Given the description of an element on the screen output the (x, y) to click on. 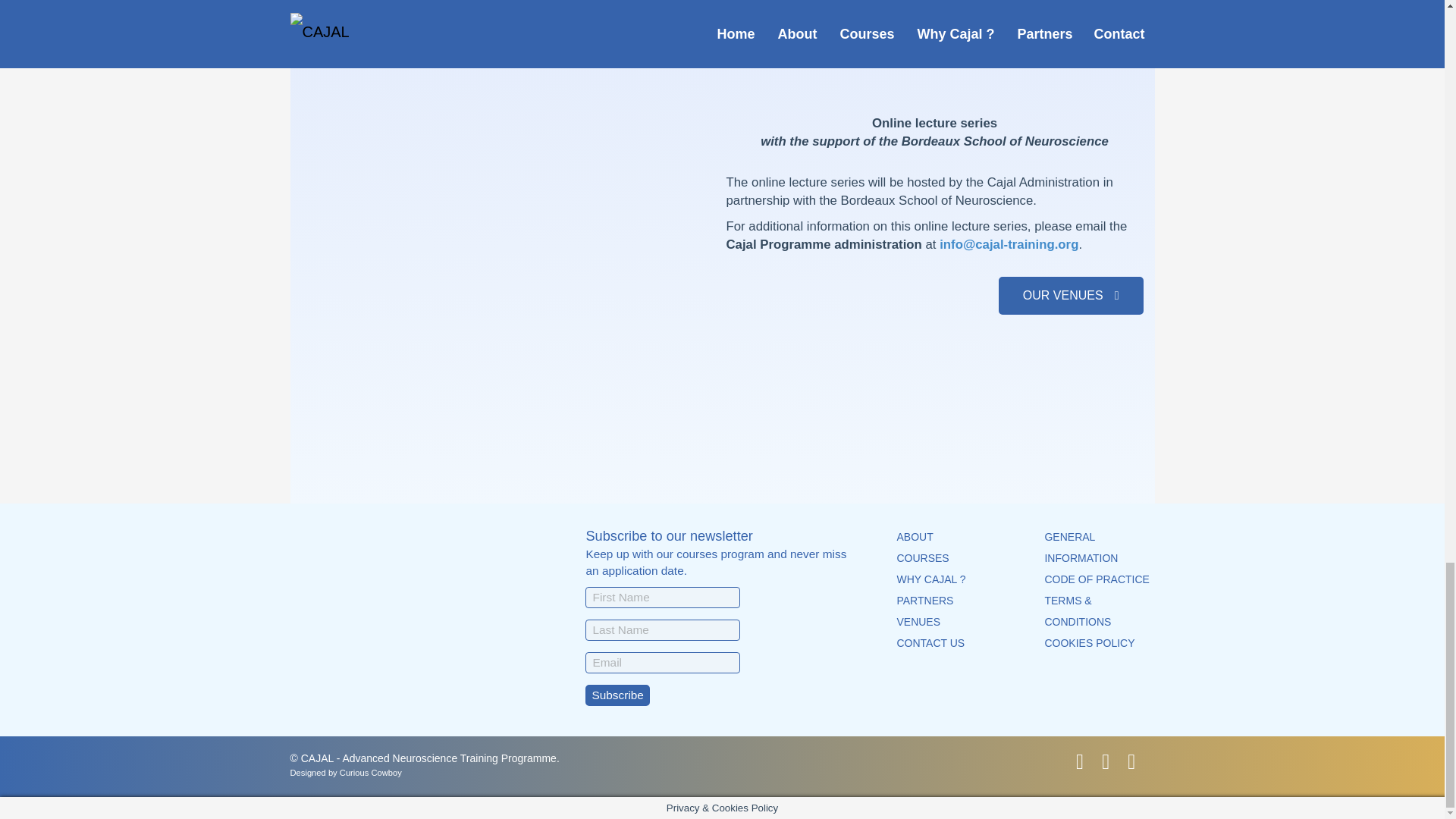
Curious Cowboy (370, 772)
VENUES (918, 621)
ABOUT (914, 536)
GENERAL INFORMATION (1080, 547)
PARTNERS (924, 600)
OUR VENUES (1070, 295)
CODE OF PRACTICE (1095, 579)
COURSES (922, 558)
COOKIES POLICY (1088, 643)
CONTACT US (929, 643)
